Given the description of an element on the screen output the (x, y) to click on. 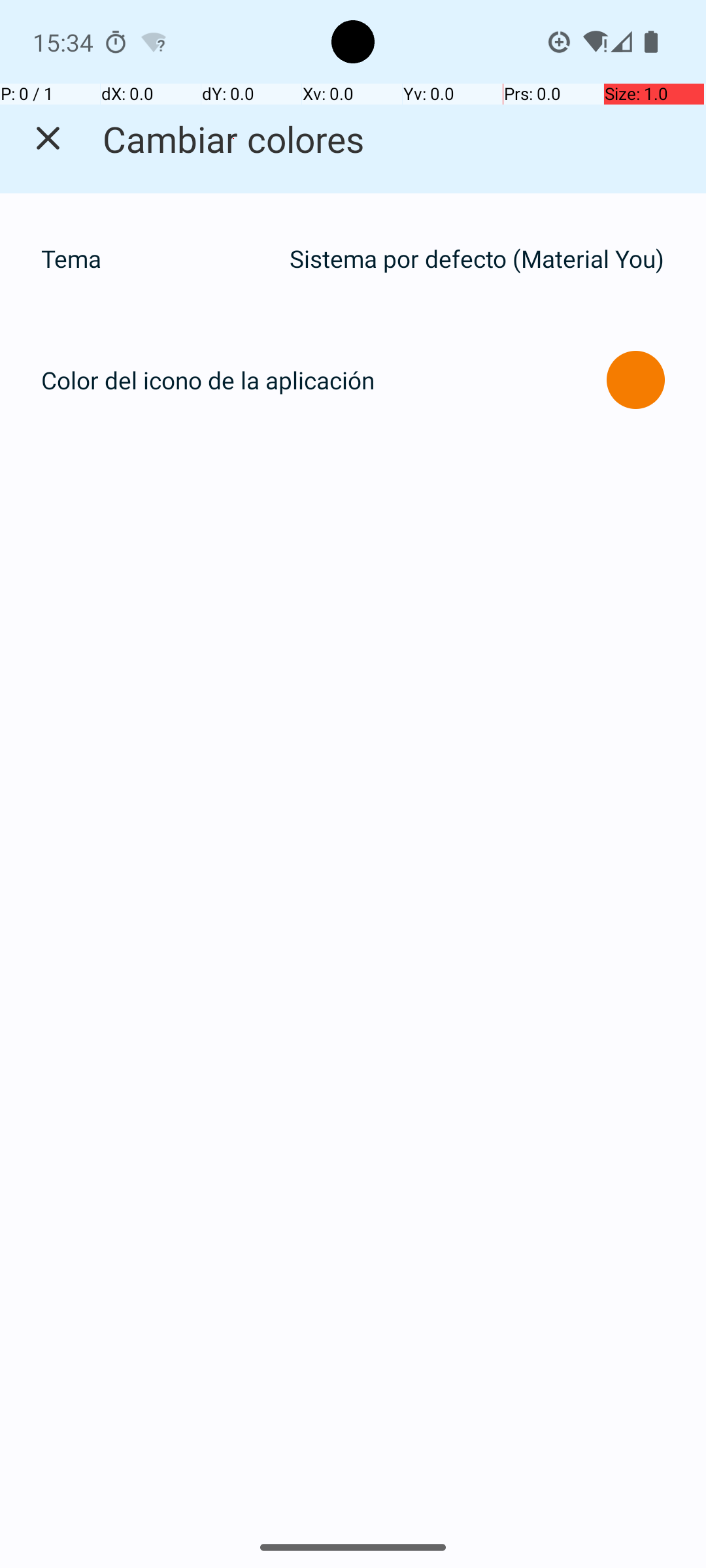
Tema Element type: android.widget.TextView (158, 258)
Sistema por defecto (Material You) Element type: android.widget.TextView (476, 258)
Color del icono de la aplicación Element type: android.widget.TextView (207, 379)
